Given the description of an element on the screen output the (x, y) to click on. 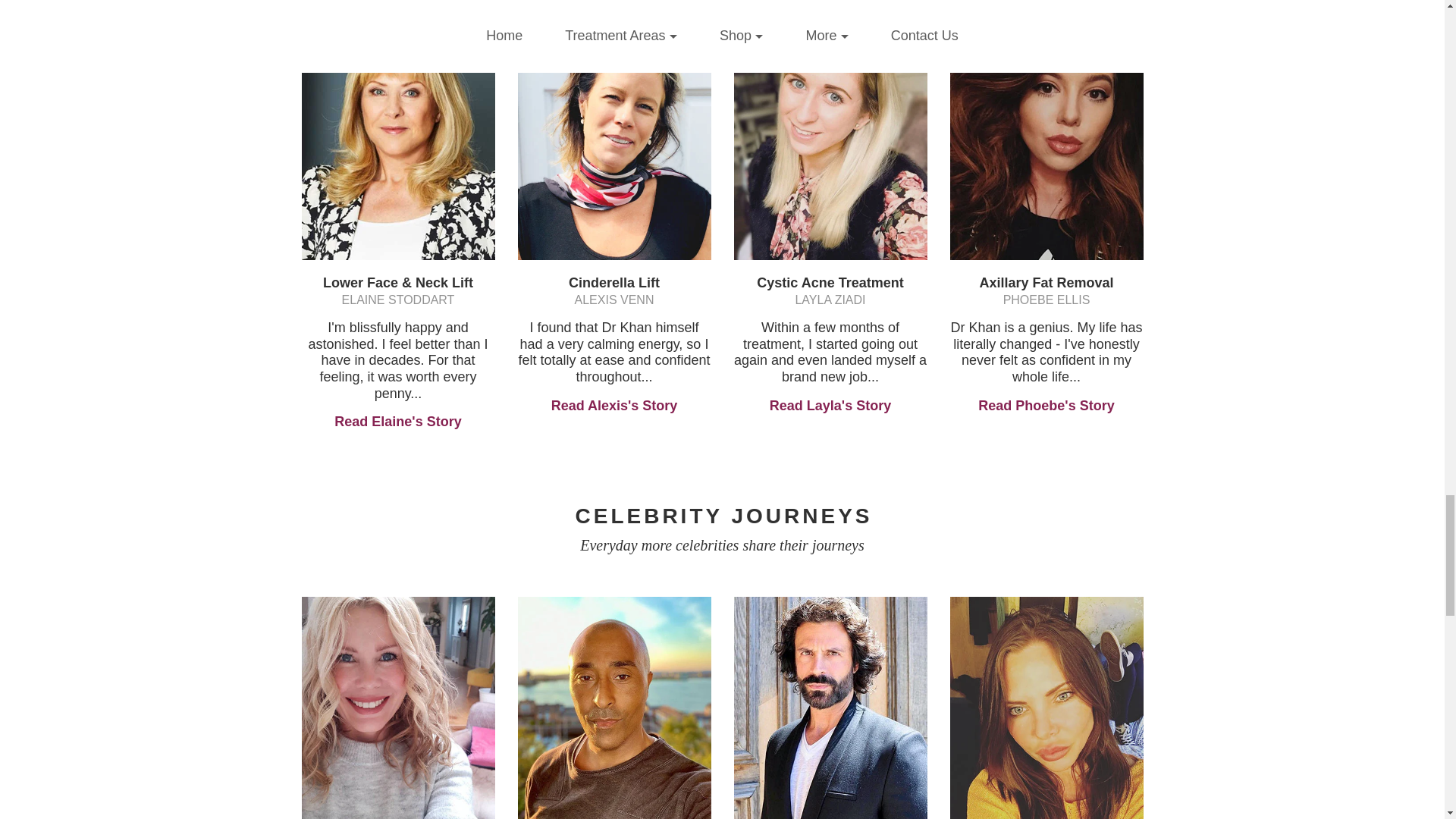
Melinda Messenger - PDO Thread Lift (398, 708)
Phoebe Ellis - Axillary Fat Removal (1045, 136)
Colin Jackson - Skincare (613, 708)
Layla Ziadi - Cystic Acne Treatment (830, 136)
Alexis Venn - Cinderella Lift (613, 136)
